Given the description of an element on the screen output the (x, y) to click on. 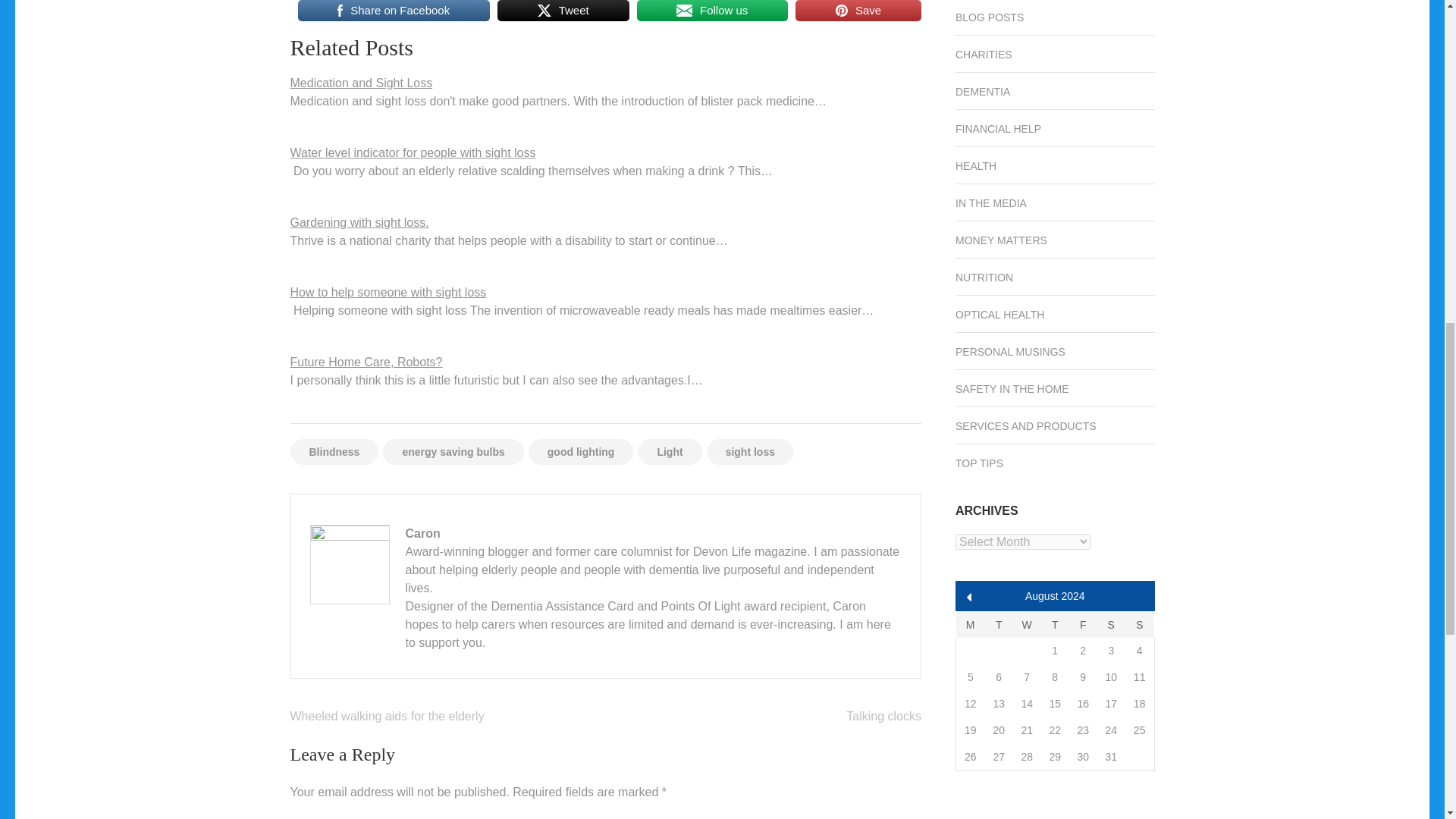
Medication and Sight Loss (360, 82)
Share on Facebook (393, 11)
Saturday (1111, 624)
How to help someone with sight loss (387, 291)
Sunday (1139, 624)
Monday (969, 624)
Thursday (1054, 624)
Future Home Care, Robots? (365, 361)
sight loss (749, 451)
Tweet (562, 11)
